Given the description of an element on the screen output the (x, y) to click on. 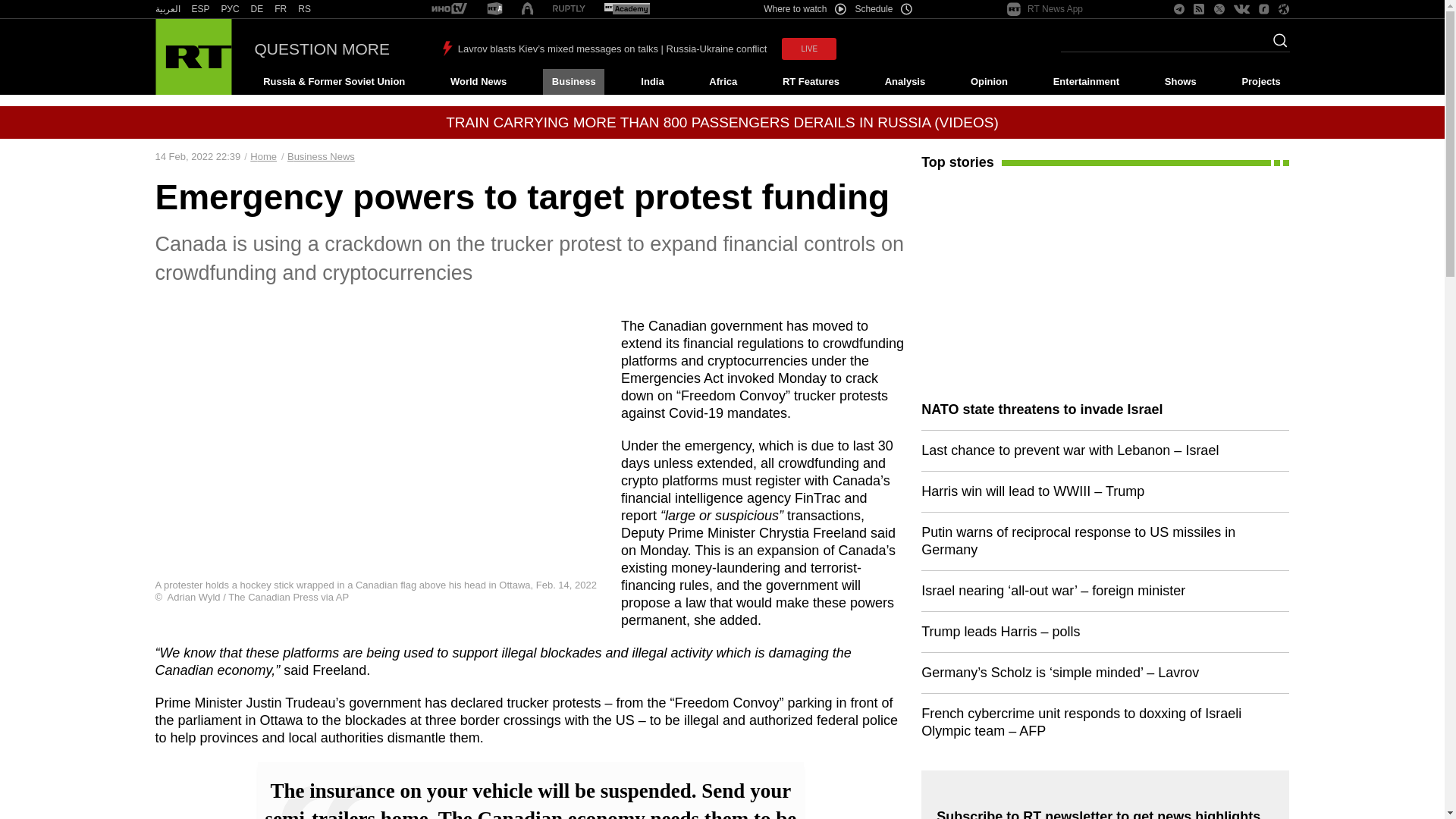
RT News App (1045, 9)
RT  (448, 9)
RT  (256, 9)
Where to watch (803, 9)
RT  (166, 9)
RT  (569, 8)
RT  (626, 9)
Search (1276, 44)
World News (478, 81)
Africa (722, 81)
Entertainment (1085, 81)
LIVE (808, 48)
Business (573, 81)
Schedule (884, 9)
RS (304, 9)
